Given the description of an element on the screen output the (x, y) to click on. 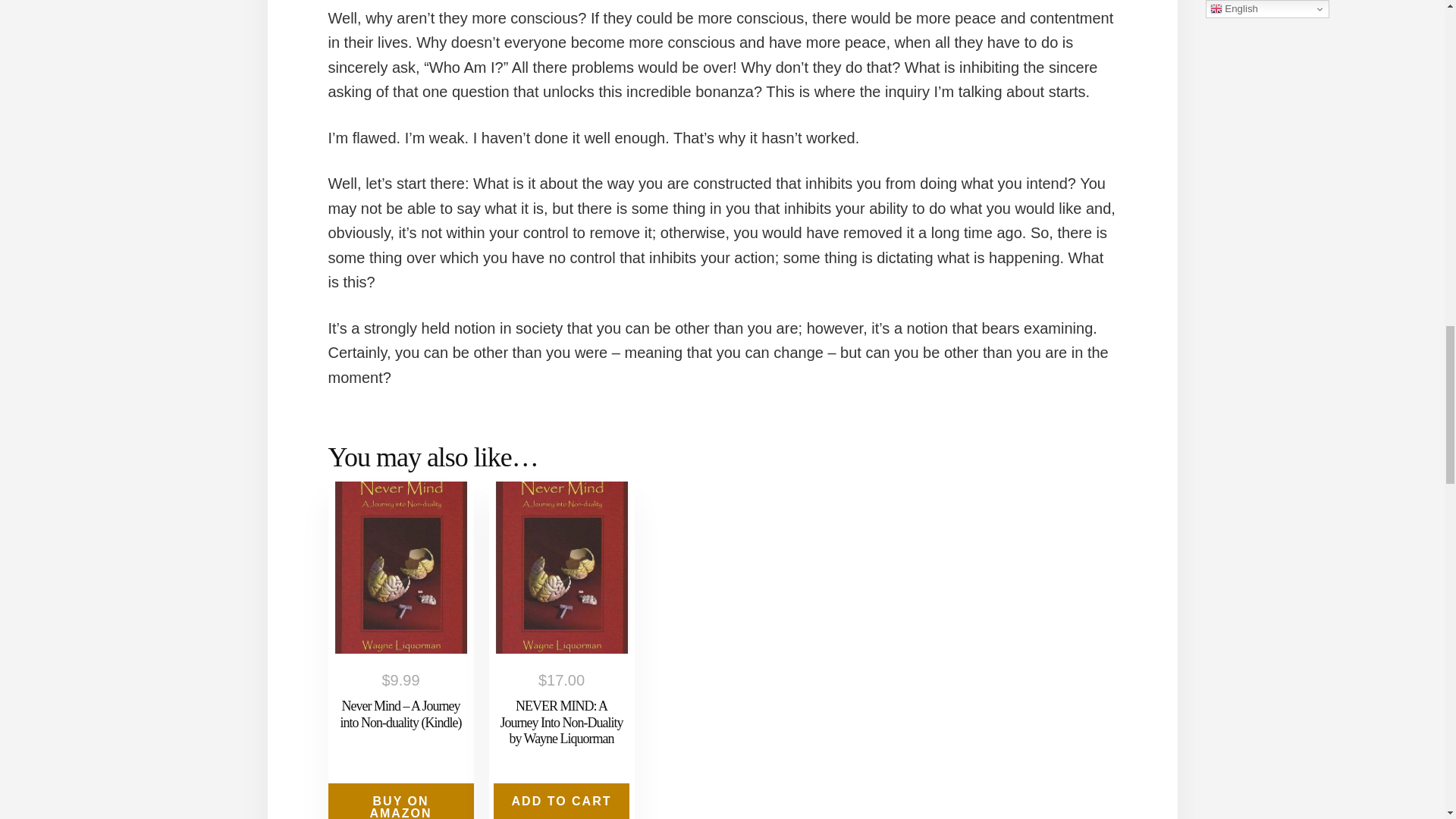
BUY ON AMAZON (400, 800)
